Given the description of an element on the screen output the (x, y) to click on. 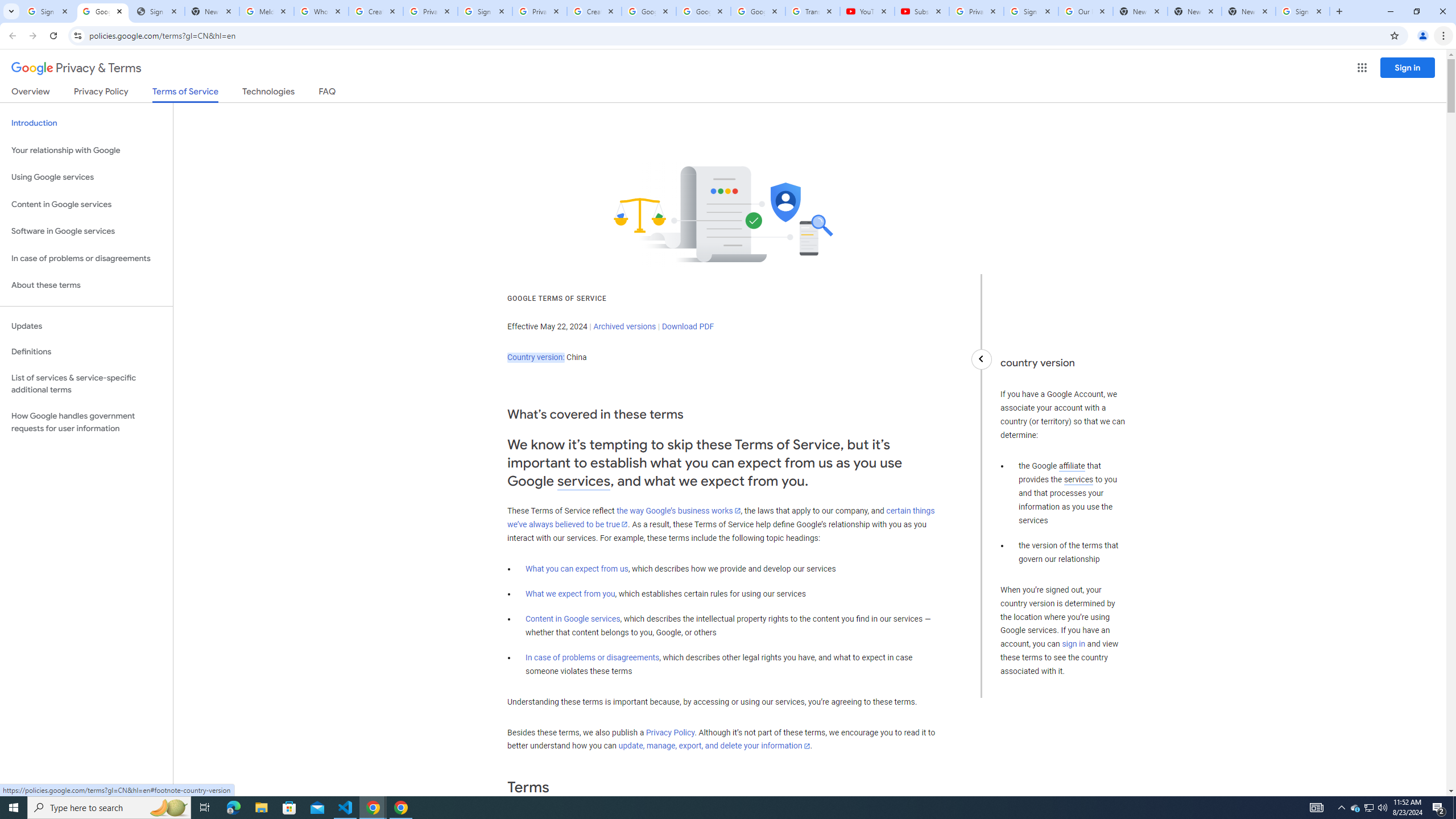
Country version: (535, 357)
About these terms (86, 284)
YouTube (866, 11)
Updates (86, 325)
Sign in - Google Accounts (48, 11)
Sign In - USA TODAY (157, 11)
